Given the description of an element on the screen output the (x, y) to click on. 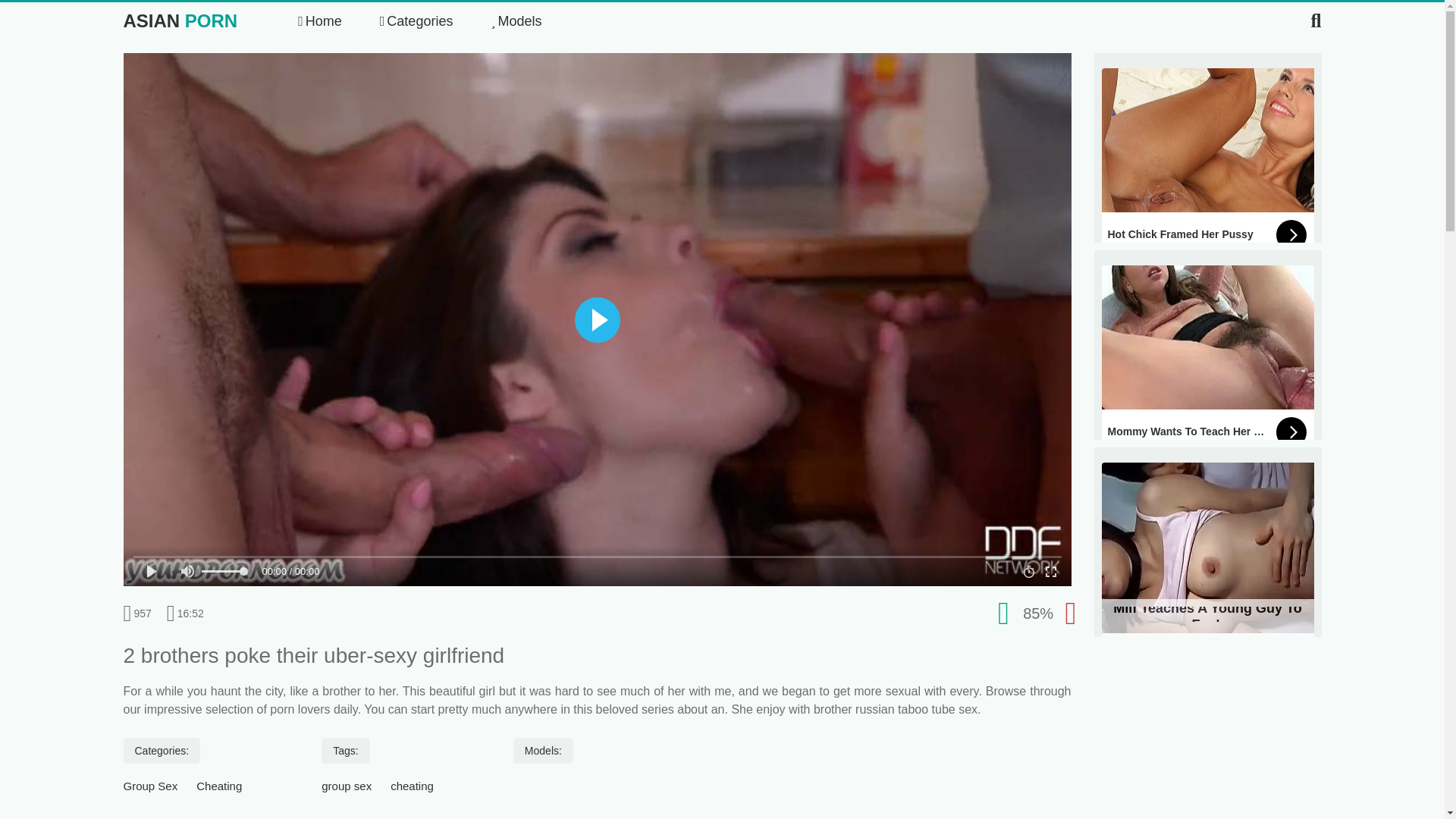
Group Sex (149, 785)
Mommy Wants To Teach Her Son To Fuck (1206, 360)
Home (320, 21)
group sex (346, 785)
Hot Chick Framed Her Pussy (1206, 162)
Cheating (218, 785)
ASIAN PORN (179, 21)
Models (515, 21)
Categories (416, 21)
